Given the description of an element on the screen output the (x, y) to click on. 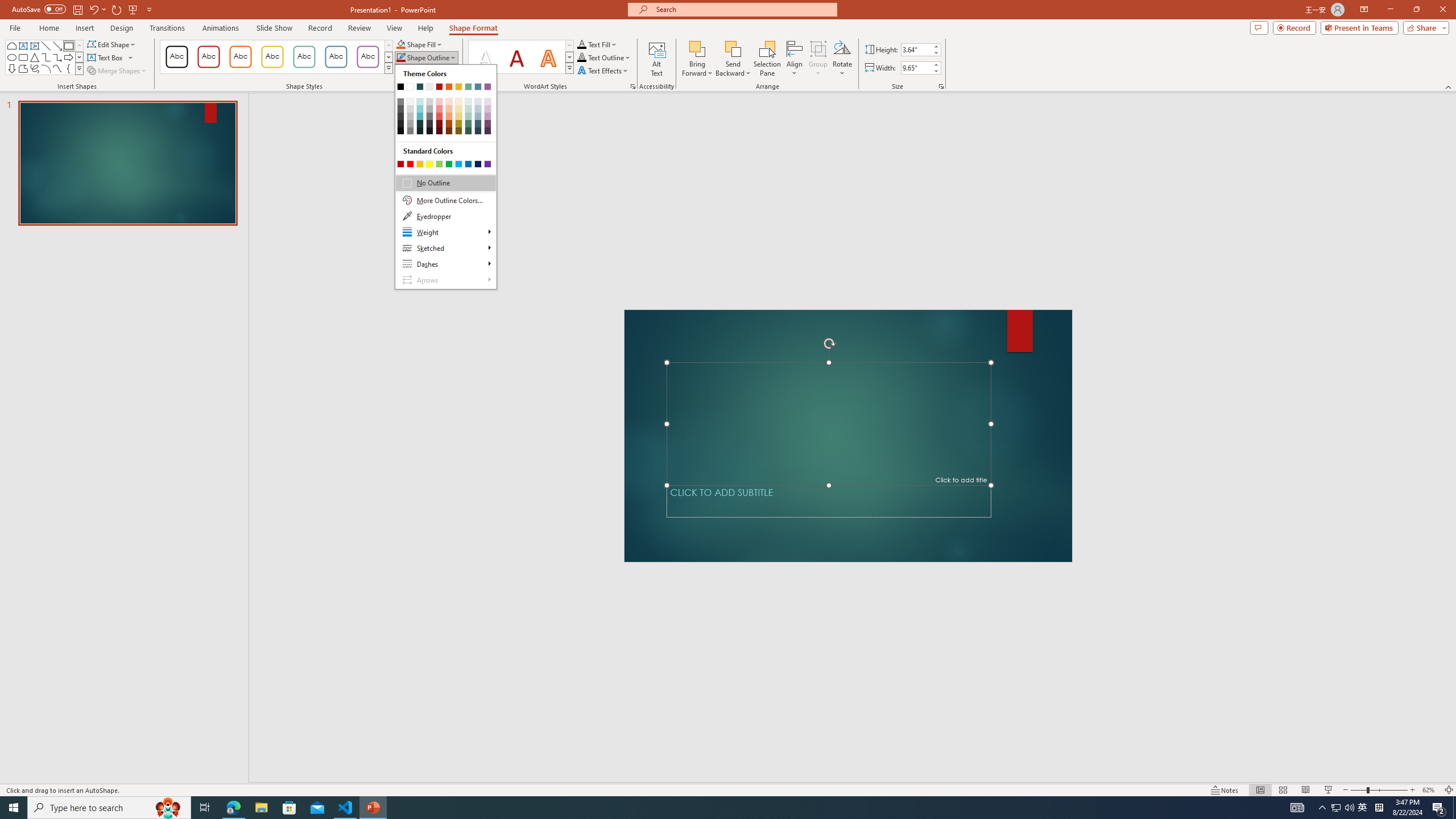
Bring Forward (697, 48)
AutomationID: ShapeStylesGallery (276, 56)
Colored Outline - Green, Accent 4 (304, 56)
